Given the description of an element on the screen output the (x, y) to click on. 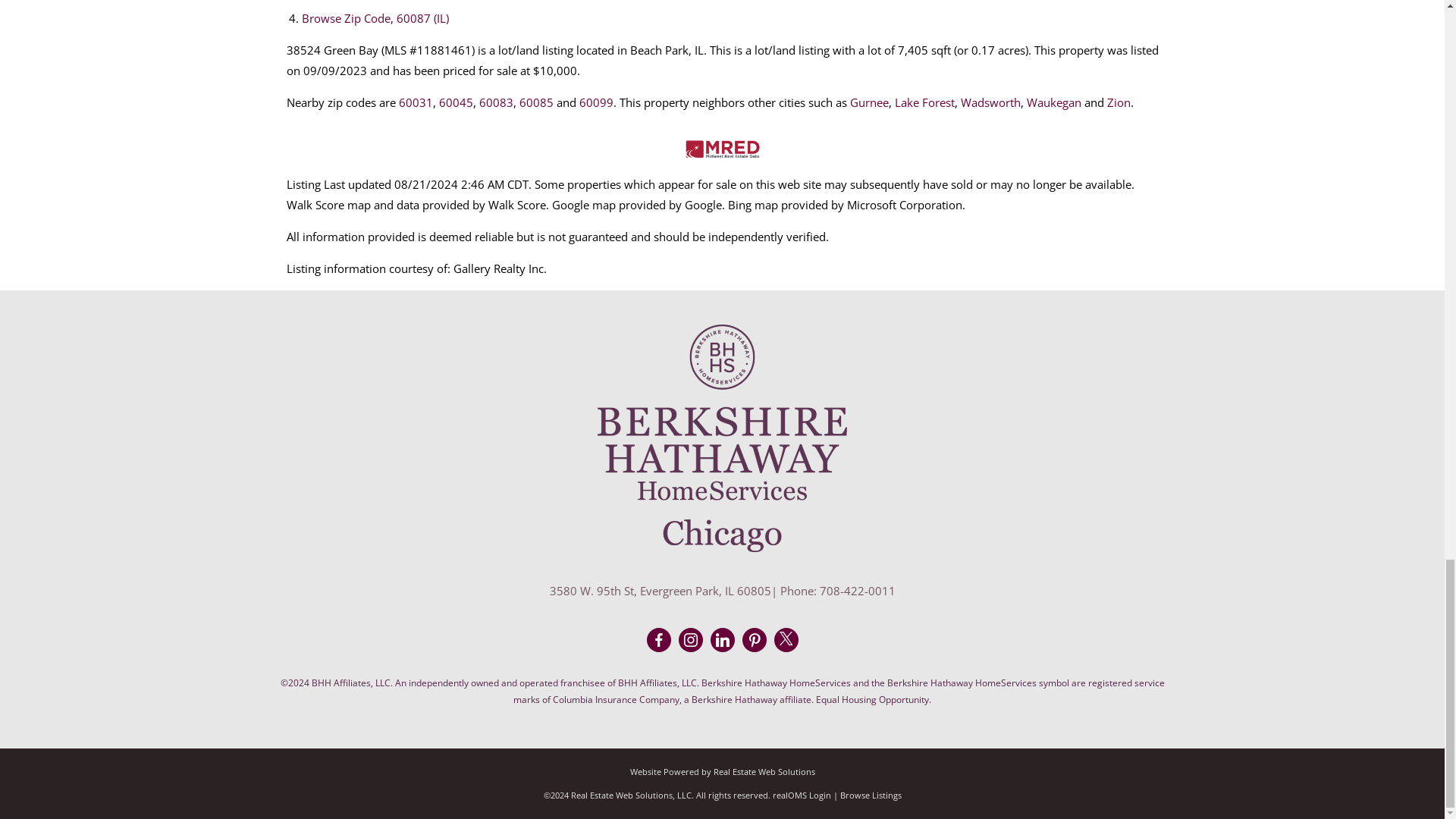
Visit us on LinkedIn (722, 640)
Visit us on Facebook (658, 640)
Visit us on Instagram (690, 640)
Visit us on Pinterest (754, 640)
